Given the description of an element on the screen output the (x, y) to click on. 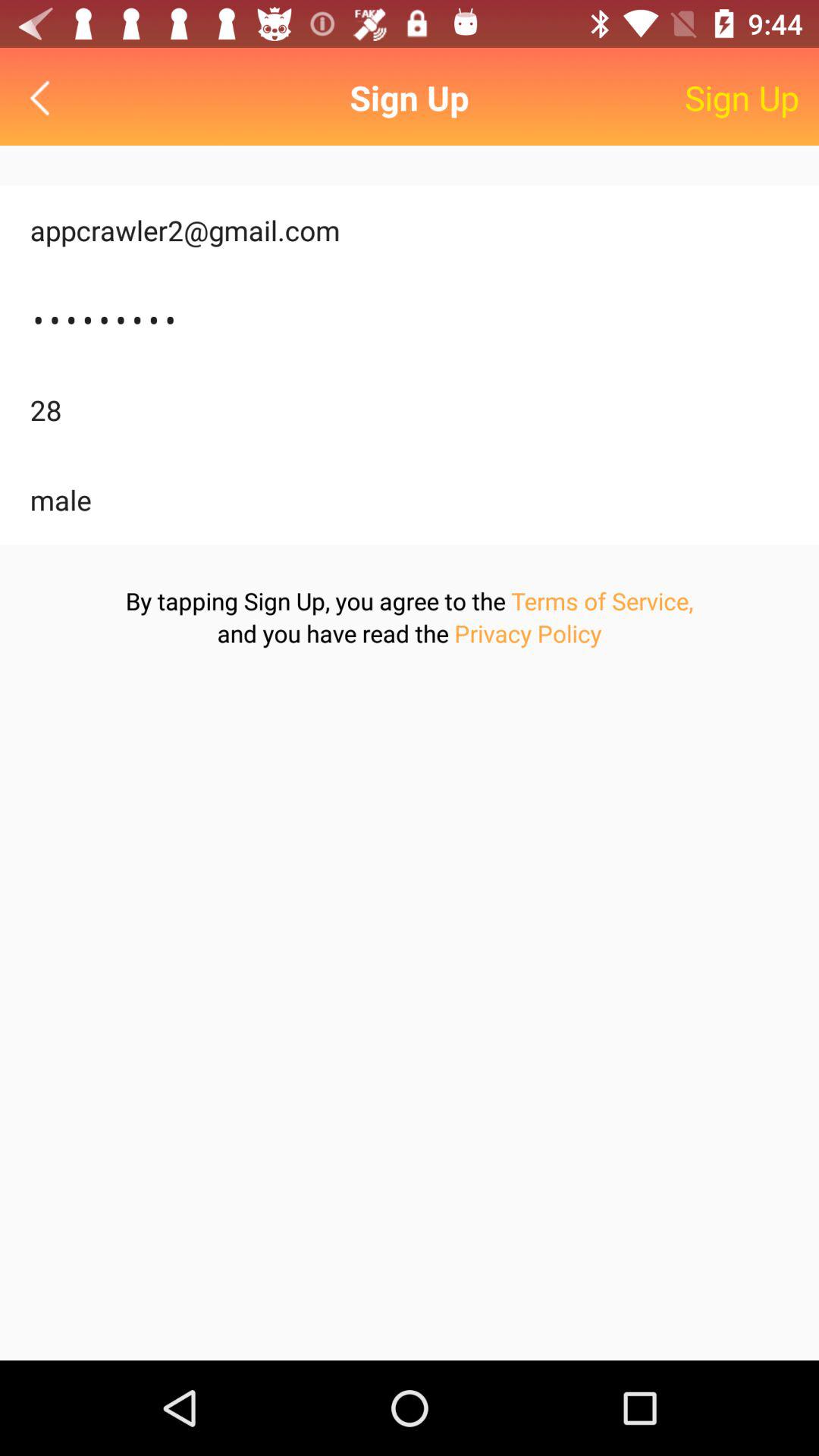
launch icon above appcrawler2@gmail.com item (43, 97)
